Given the description of an element on the screen output the (x, y) to click on. 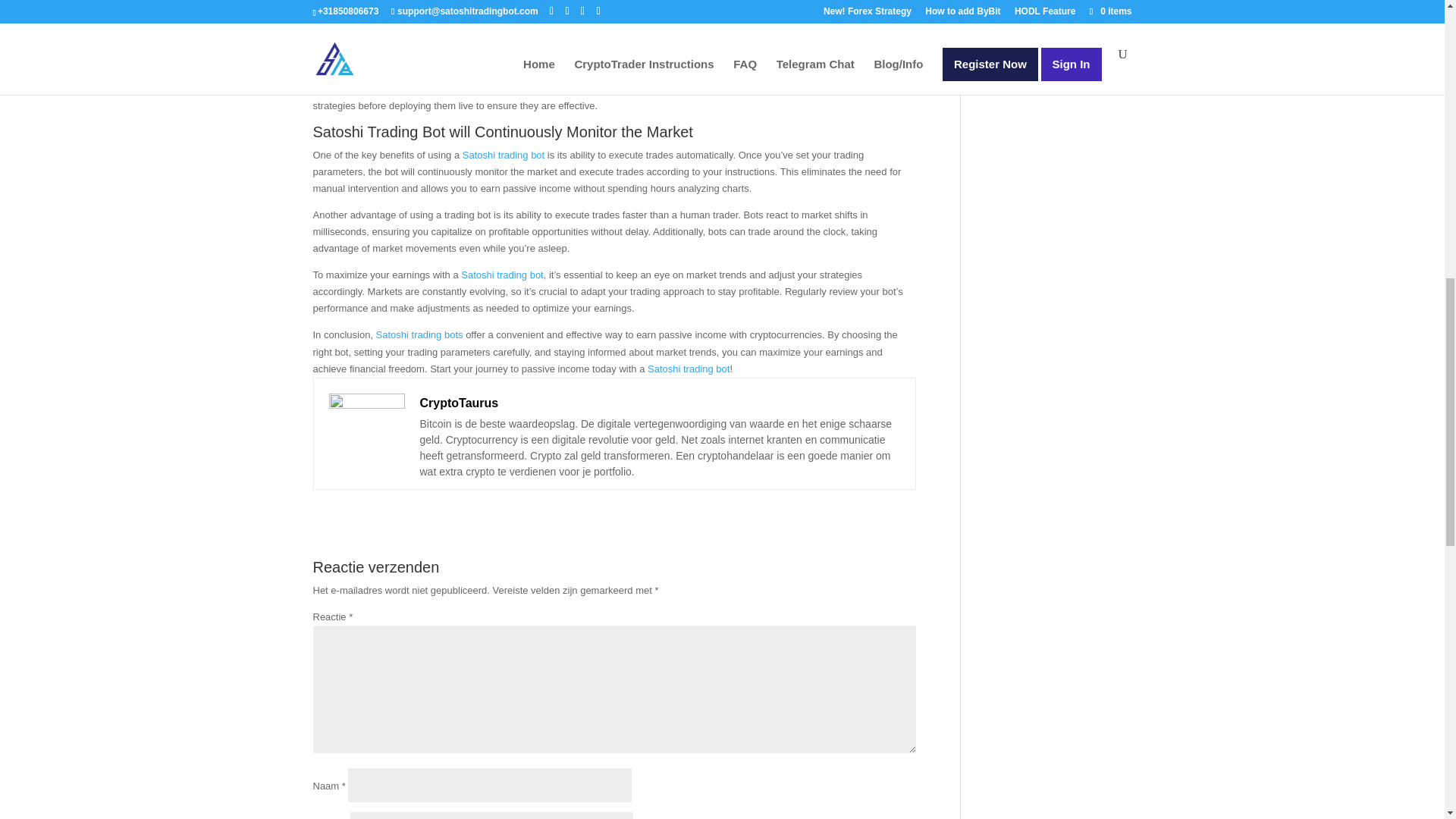
Satoshi trading bot (688, 368)
Satoshi trading bot (503, 154)
Satoshi trading bots (419, 334)
Satoshi trading bot (502, 274)
CryptoTaurus (459, 402)
